Given the description of an element on the screen output the (x, y) to click on. 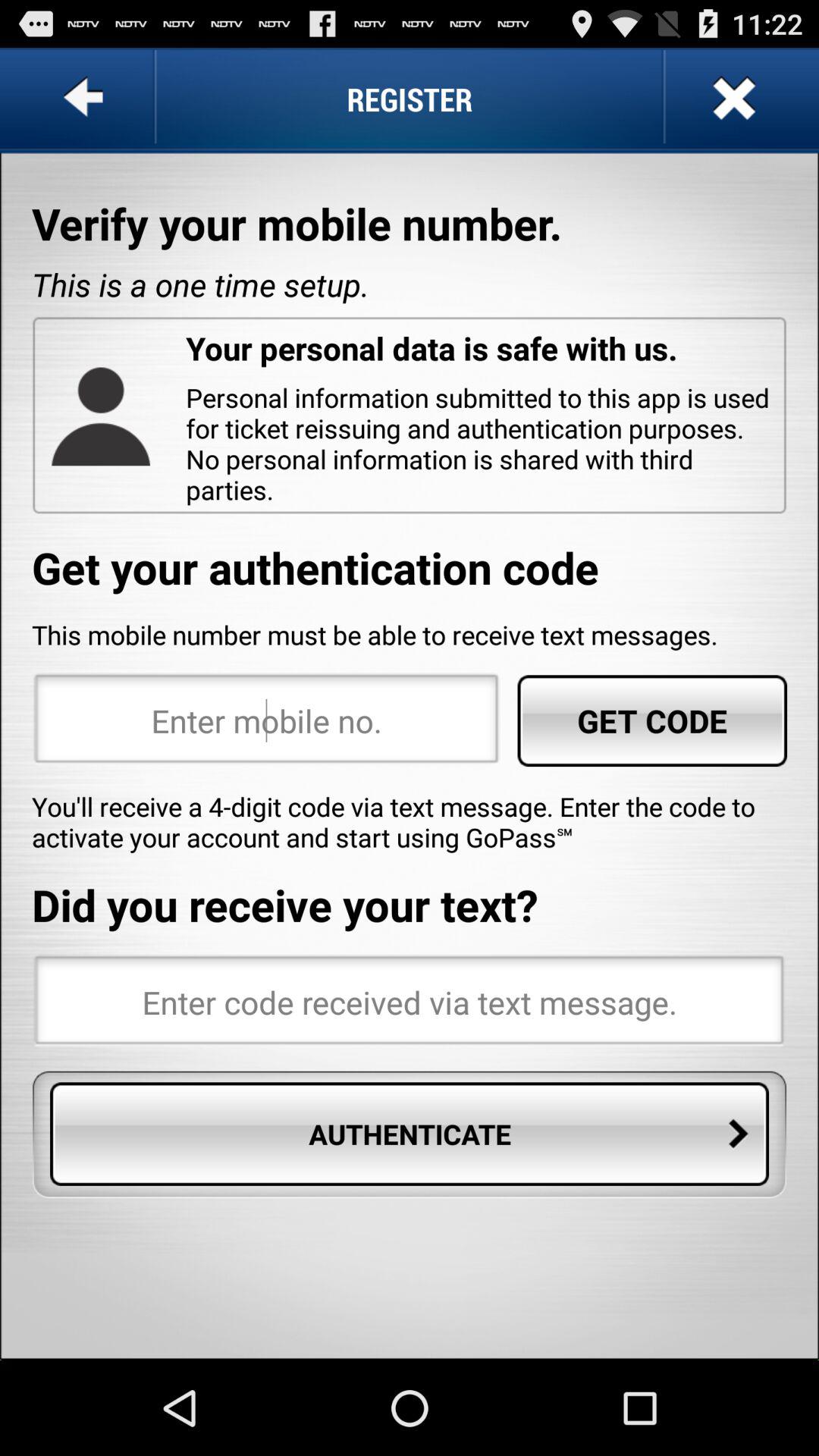
turn off the app above verify your mobile (732, 99)
